Given the description of an element on the screen output the (x, y) to click on. 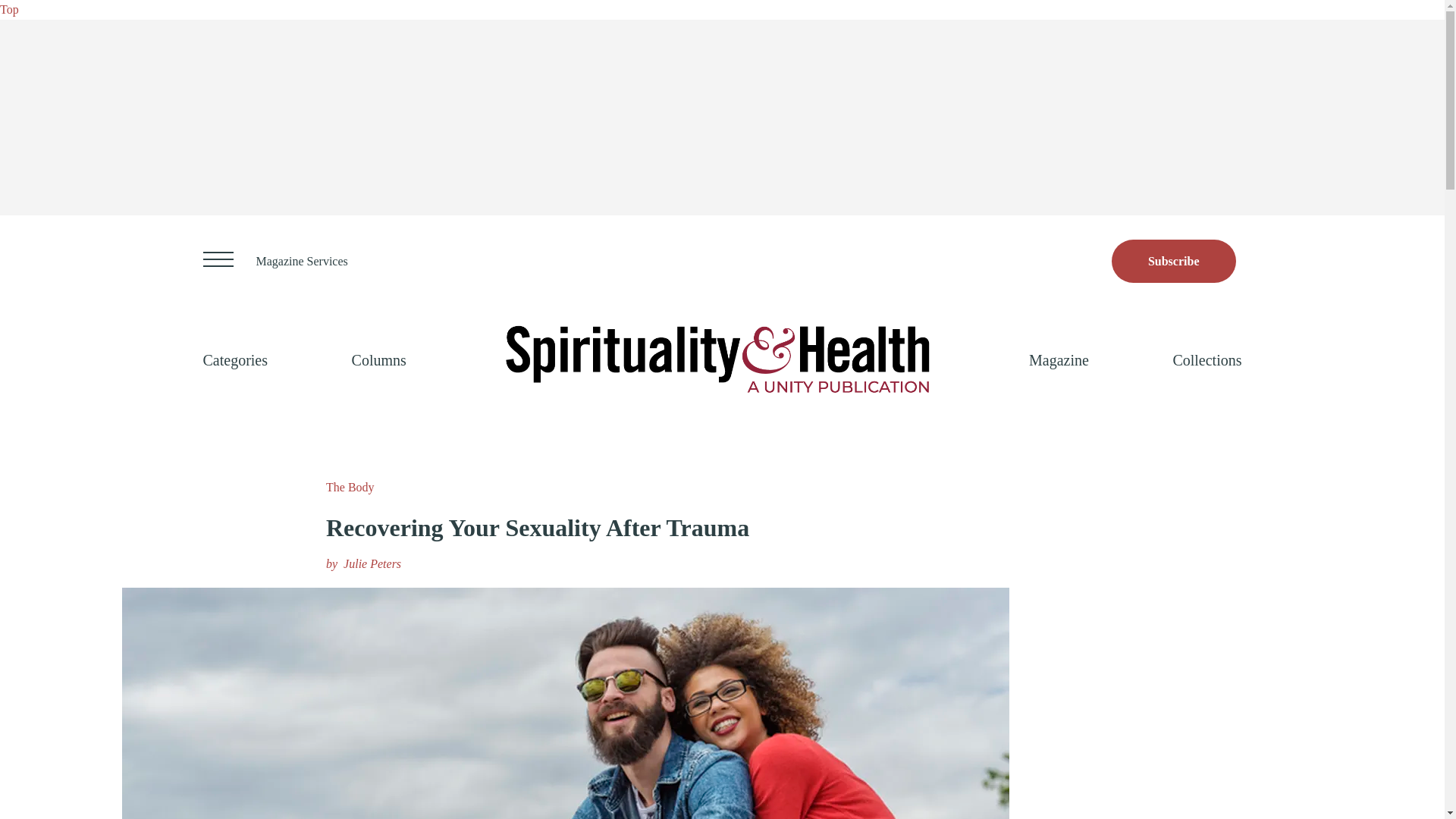
Opens to Store site (1174, 261)
Magazine Services (301, 260)
Magazine (1059, 359)
Subscribe (1174, 261)
Columns (379, 359)
Top (9, 9)
Categories (235, 359)
Collections (1206, 359)
